Given the description of an element on the screen output the (x, y) to click on. 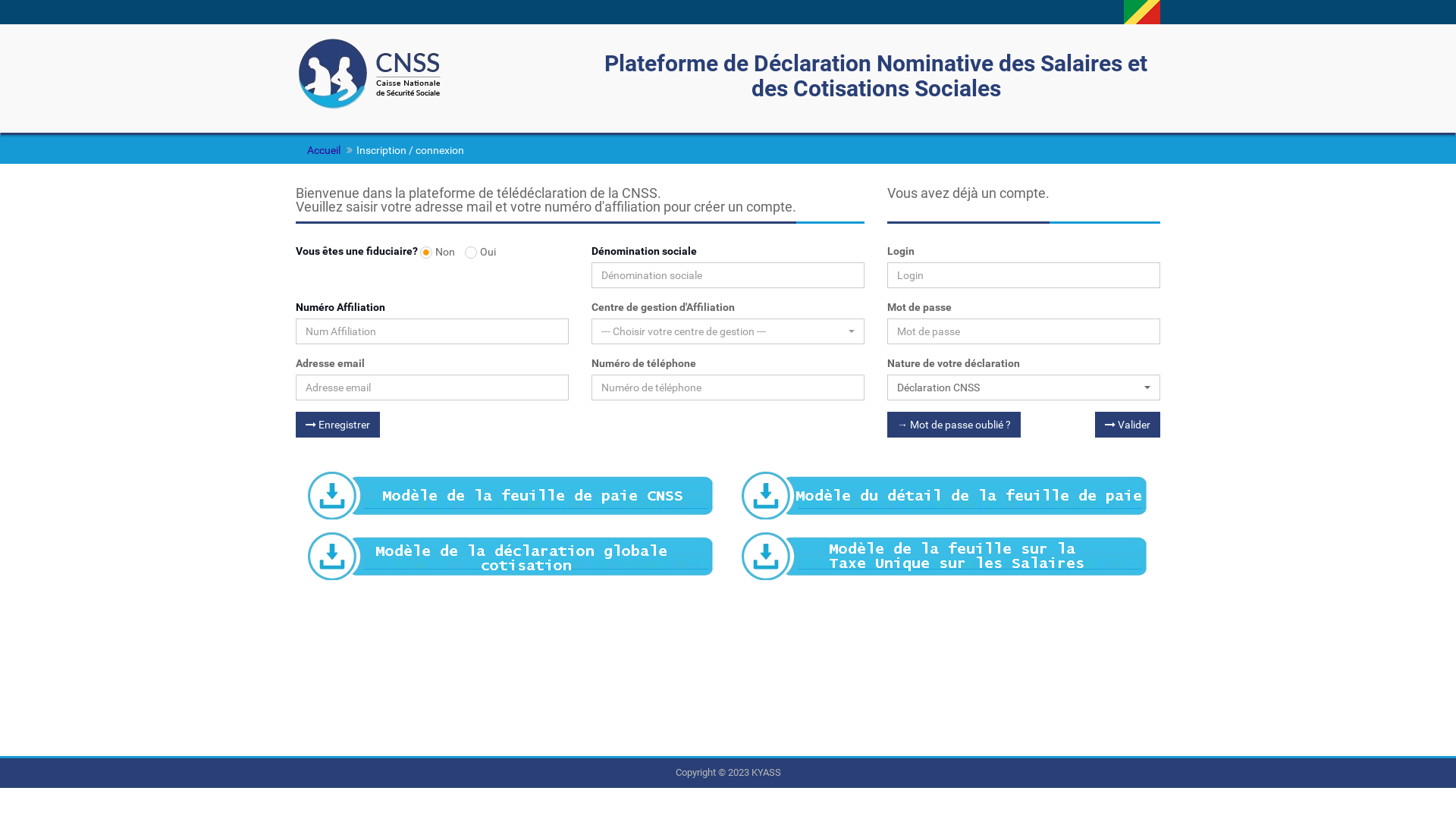
Enregistrer Element type: text (337, 424)
Valider Element type: text (1127, 424)
--- Choisir votre centre de gestion ---
  Element type: text (727, 331)
Accueil Element type: text (323, 150)
Non defini Element type: text (4, 4)
